Given the description of an element on the screen output the (x, y) to click on. 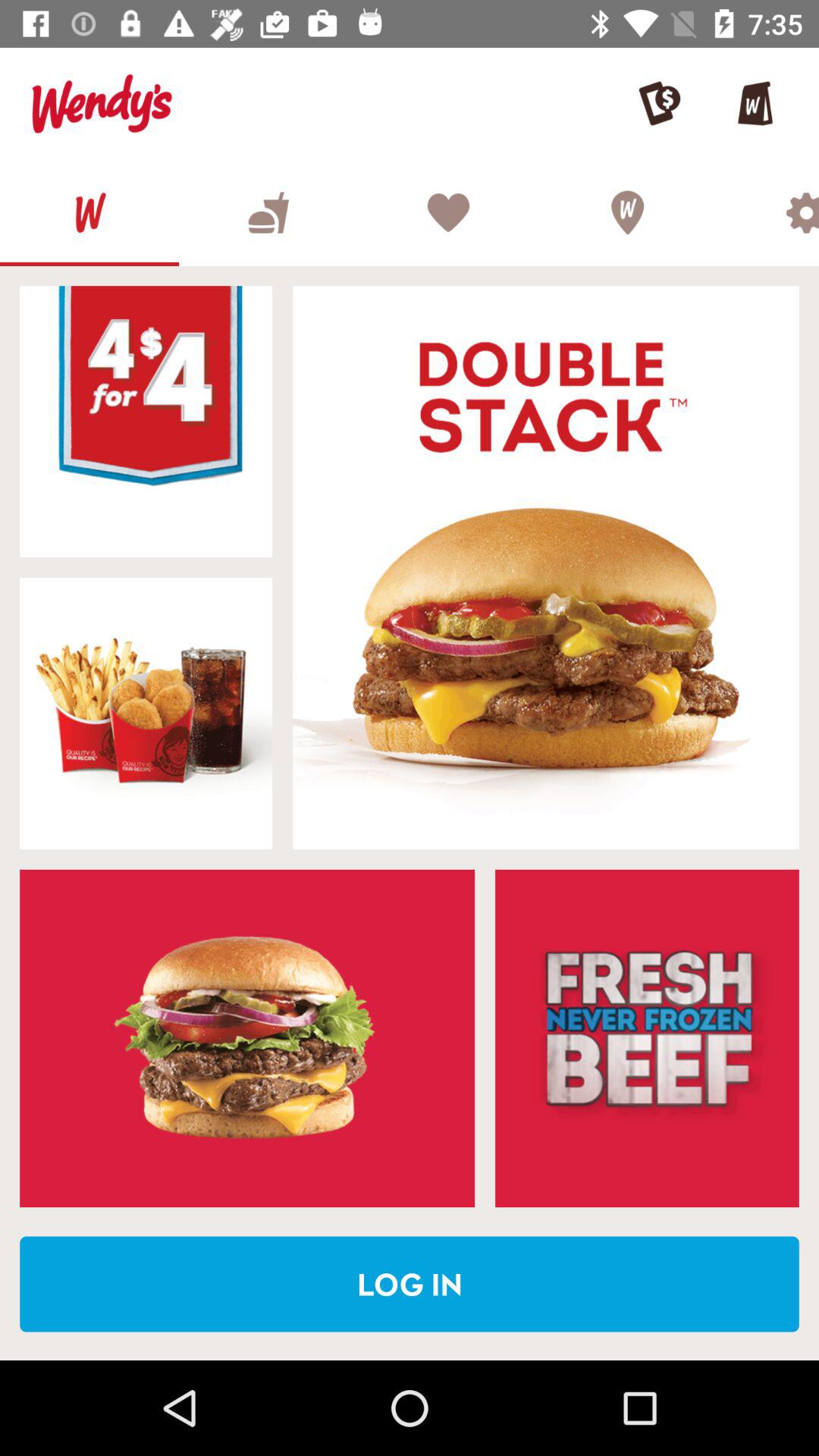
offer the burger (145, 421)
